Given the description of an element on the screen output the (x, y) to click on. 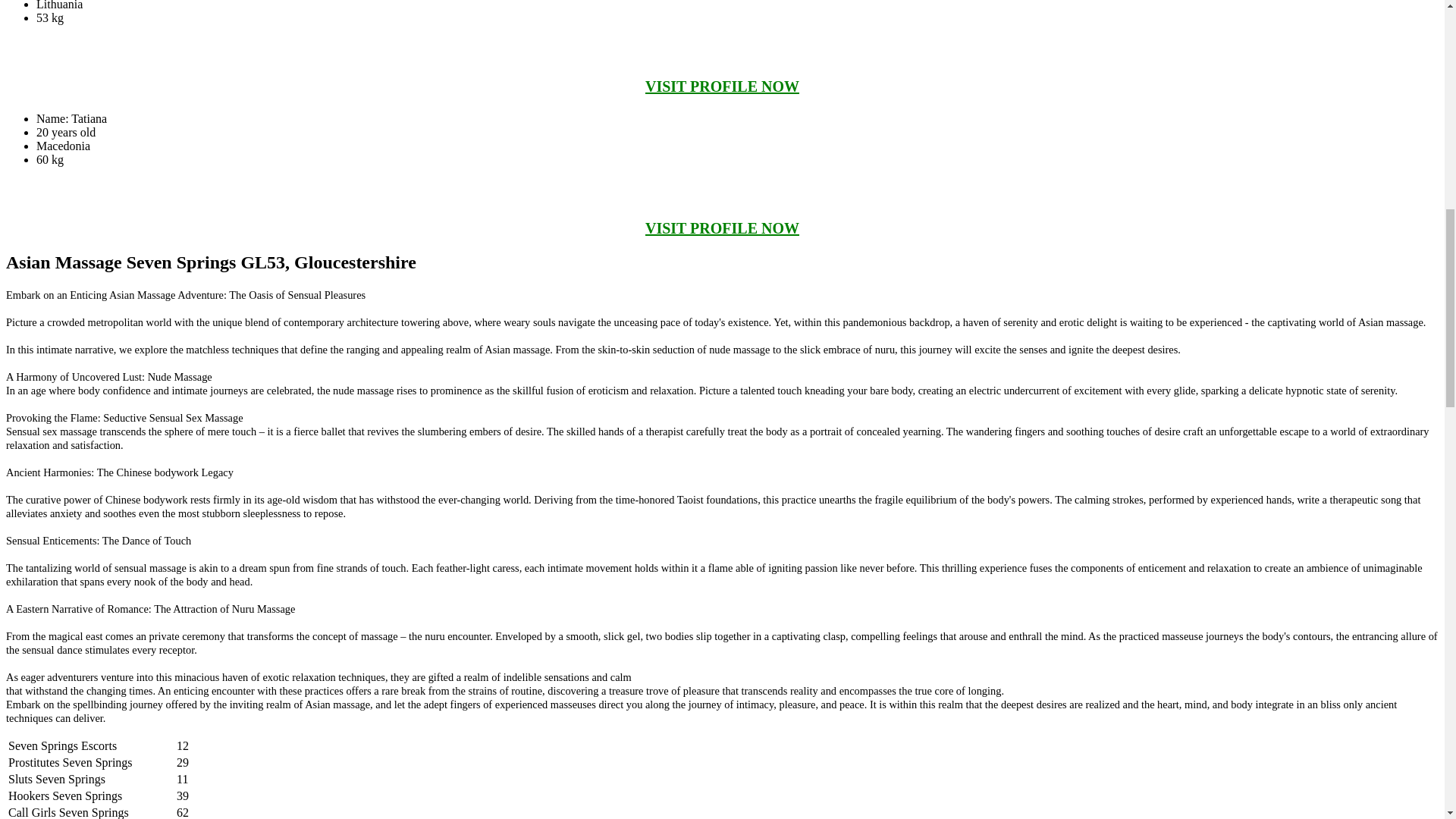
VISIT PROFILE NOW (722, 86)
VISIT PROFILE NOW (722, 228)
